Given the description of an element on the screen output the (x, y) to click on. 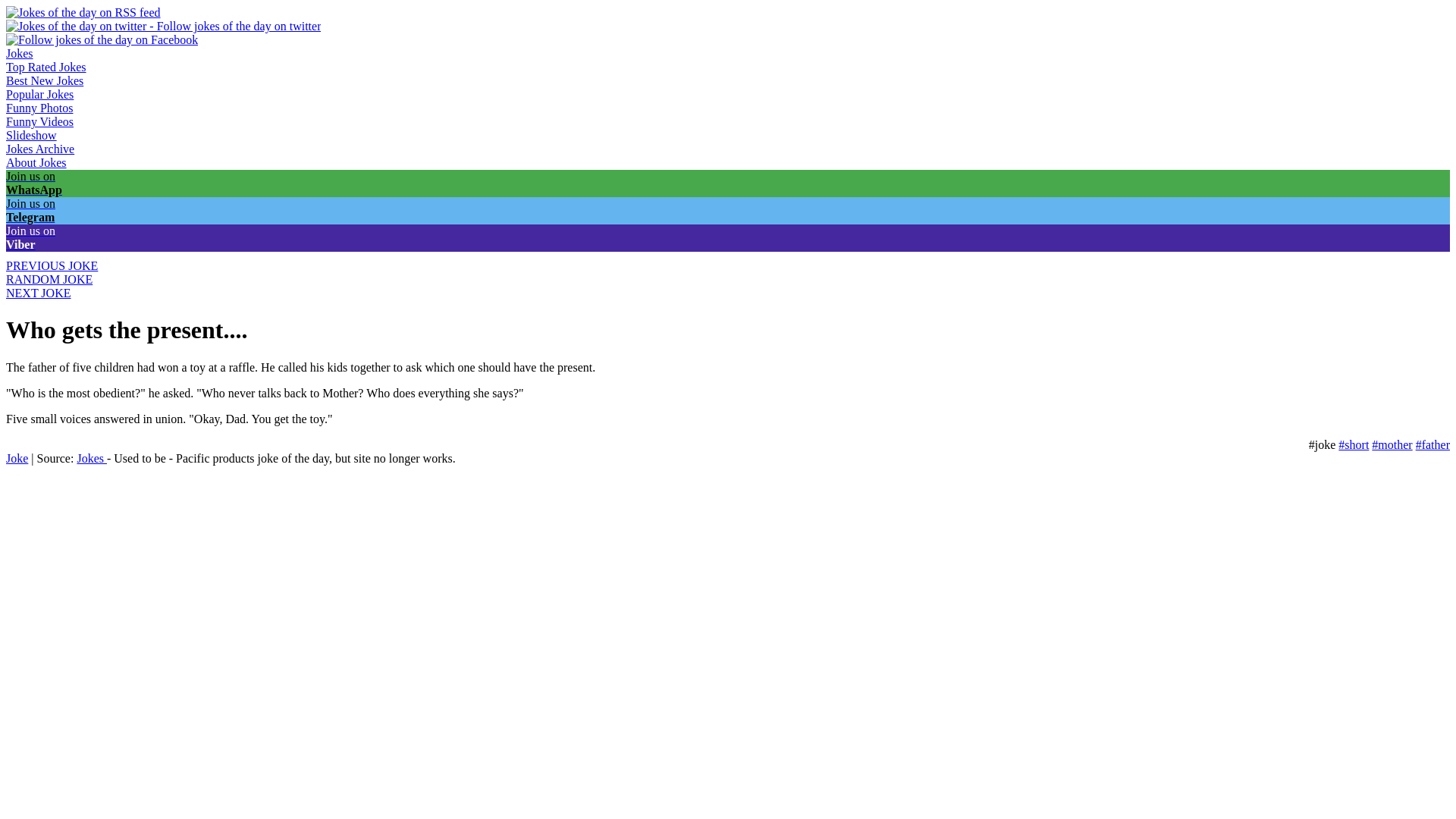
Funny Videos (39, 121)
Funny Photos (38, 107)
About Jokes (35, 162)
About Jokes (35, 162)
Slideshow (30, 134)
Best New Jokes (43, 80)
Jokes (19, 52)
Jokes Archive (39, 148)
Popular Jokes (39, 93)
The best jokes in the last 4 weeks (43, 80)
Slideshow (30, 134)
Jokes of the day on RSS feed (82, 11)
Top Rated Jokes (45, 66)
The Best Jokes - top rated jokes (45, 66)
